Given the description of an element on the screen output the (x, y) to click on. 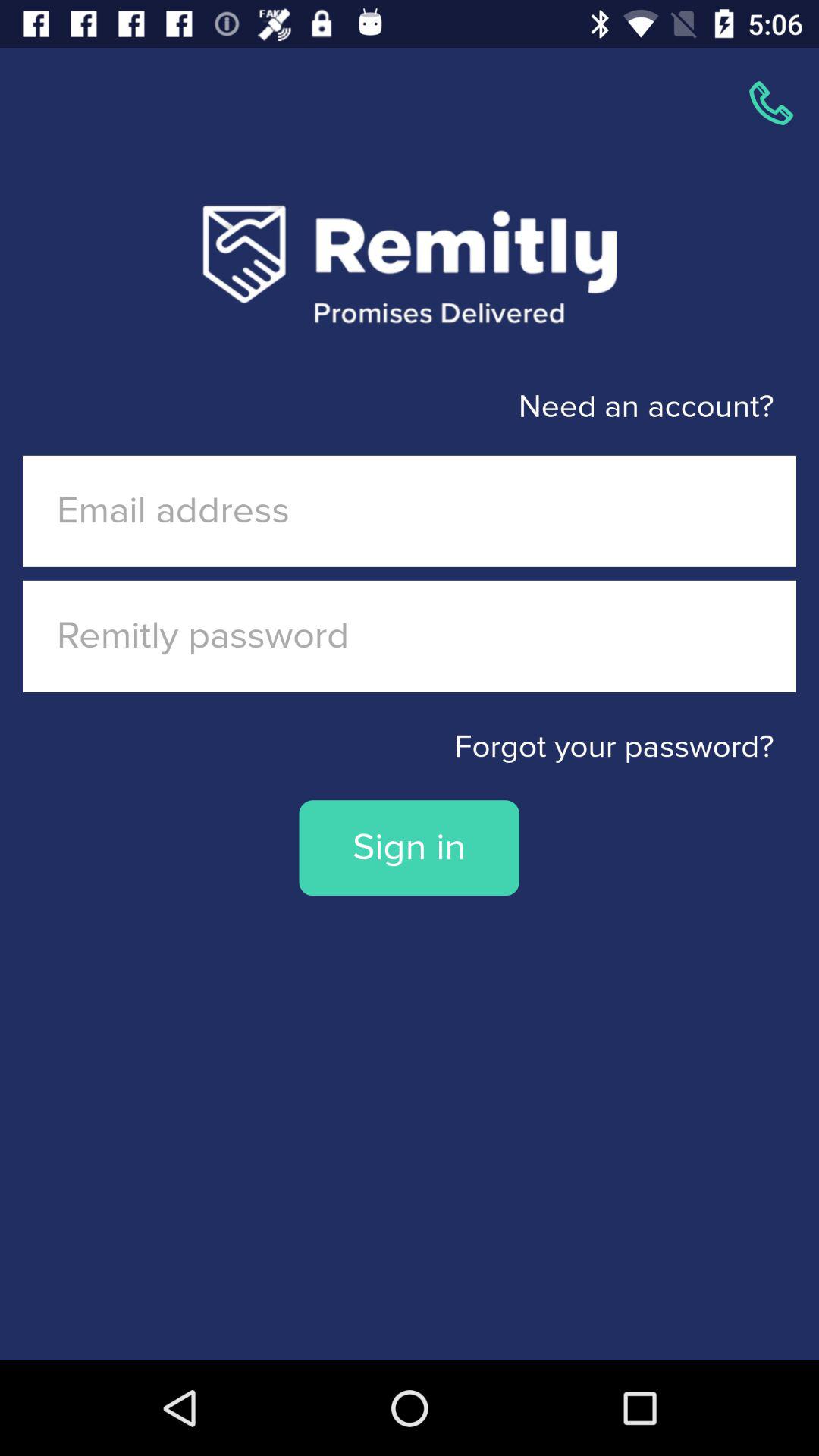
choose item below forgot your password? item (409, 847)
